Given the description of an element on the screen output the (x, y) to click on. 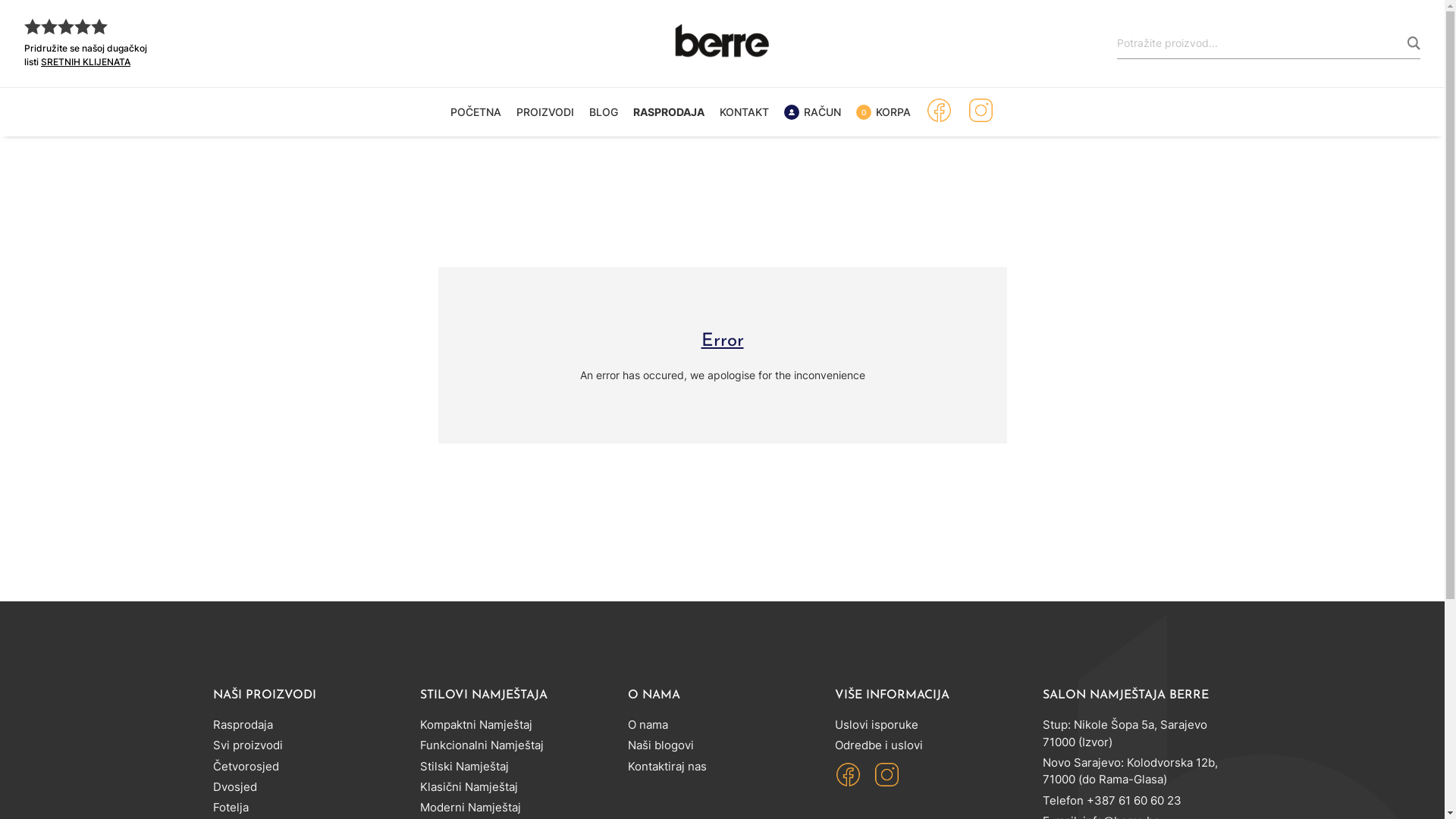
Uslovi isporuke Element type: text (876, 724)
Kontaktiraj nas Element type: text (666, 766)
Dvosjed Element type: text (234, 786)
BLOG Element type: text (603, 111)
O nama Element type: text (647, 724)
Svi proizvodi Element type: text (247, 744)
Telefon +387 61 60 60 23 Element type: text (1111, 800)
Fotelja Element type: text (229, 807)
POGLEDAJTE KORPU Element type: text (883, 275)
PROIZVODI Element type: text (545, 111)
KONTAKT Element type: text (743, 111)
RASPRODAJA Element type: text (668, 111)
Rasprodaja Element type: text (242, 724)
0
KORPA Element type: text (883, 111)
Odredbe i uslovi Element type: text (878, 744)
Novo Sarajevo: Kolodvorska 12b, 71000 (do Rama-Glasa) Element type: text (1129, 771)
